Given the description of an element on the screen output the (x, y) to click on. 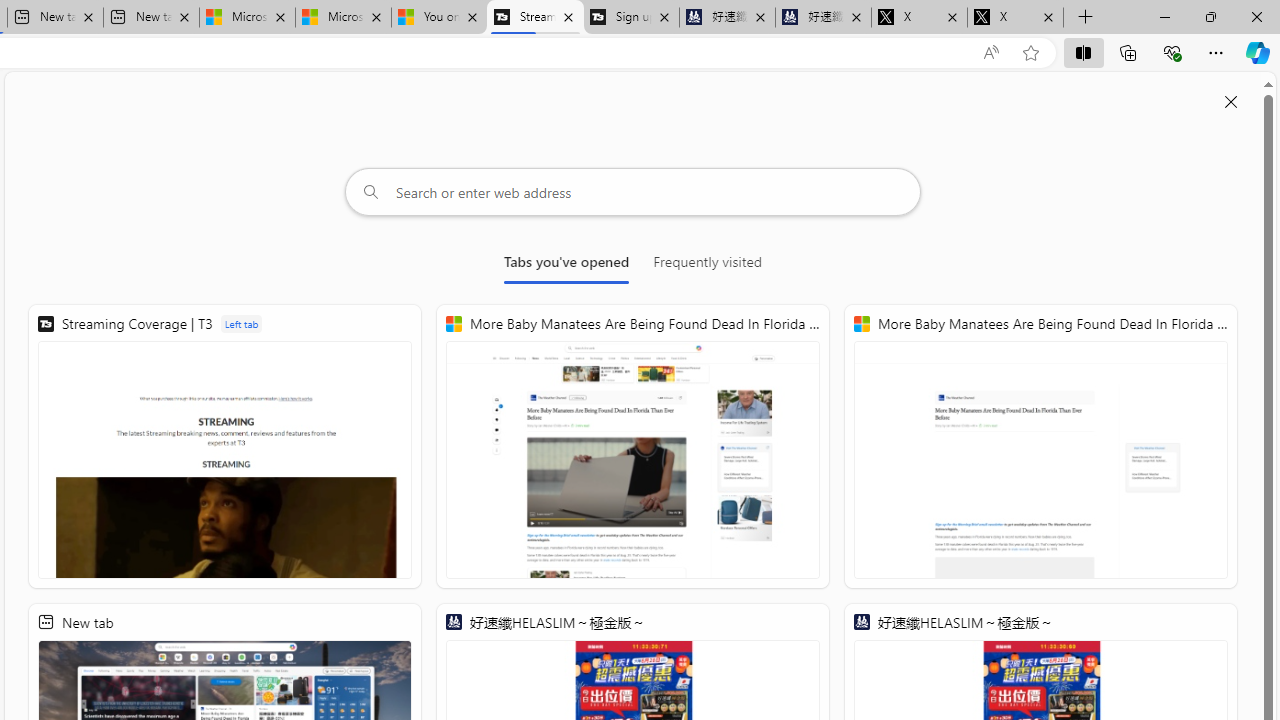
Microsoft Start (342, 17)
Split screen (1083, 52)
Copilot (Ctrl+Shift+.) (1258, 52)
New tab (150, 17)
New Tab (1085, 17)
Collections (1128, 52)
Close (1256, 16)
Close split screen (1231, 102)
Close tab (1048, 16)
Add this page to favorites (Ctrl+D) (1030, 53)
Restore (1210, 16)
